Given the description of an element on the screen output the (x, y) to click on. 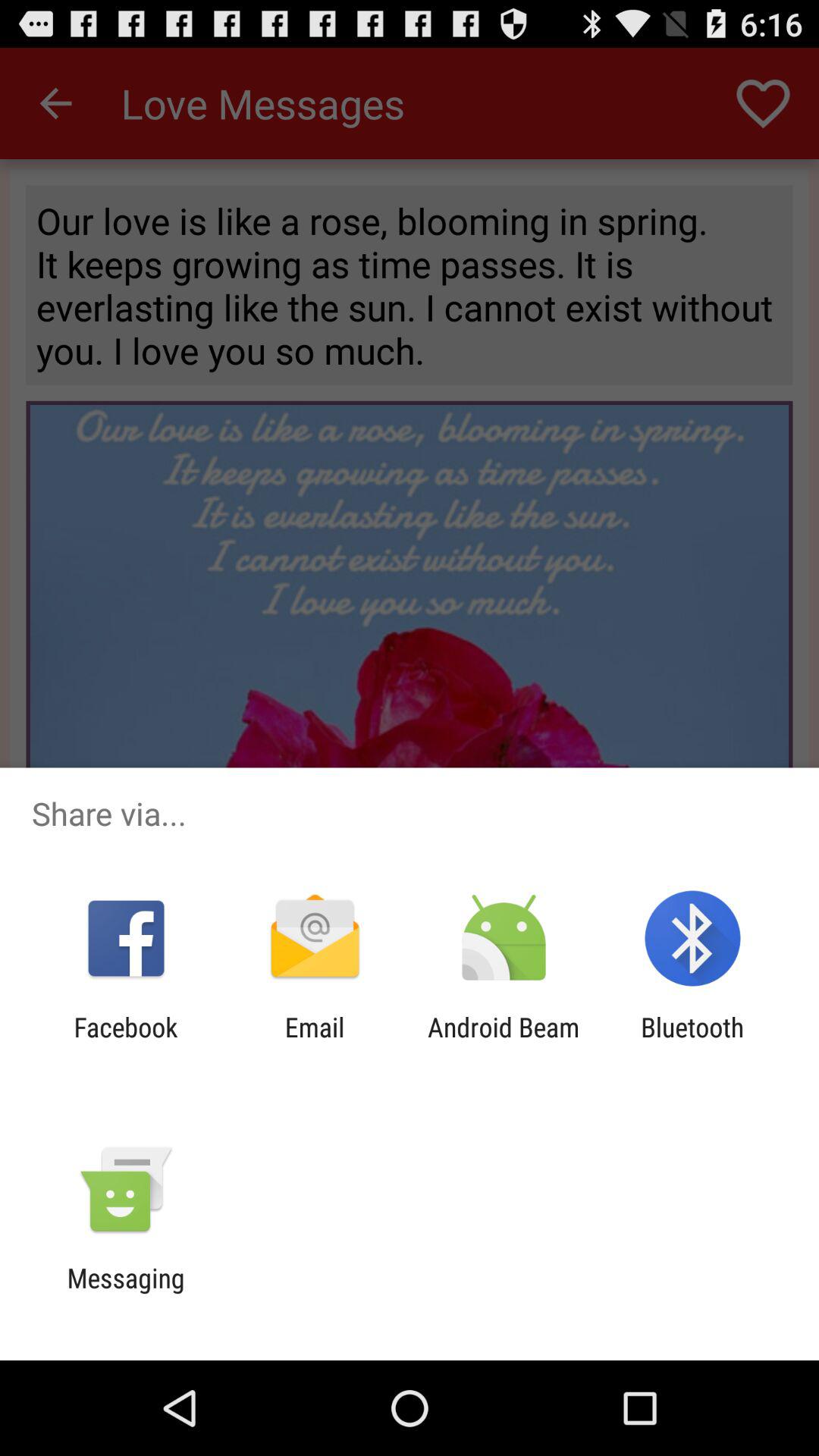
select the bluetooth at the bottom right corner (691, 1042)
